Given the description of an element on the screen output the (x, y) to click on. 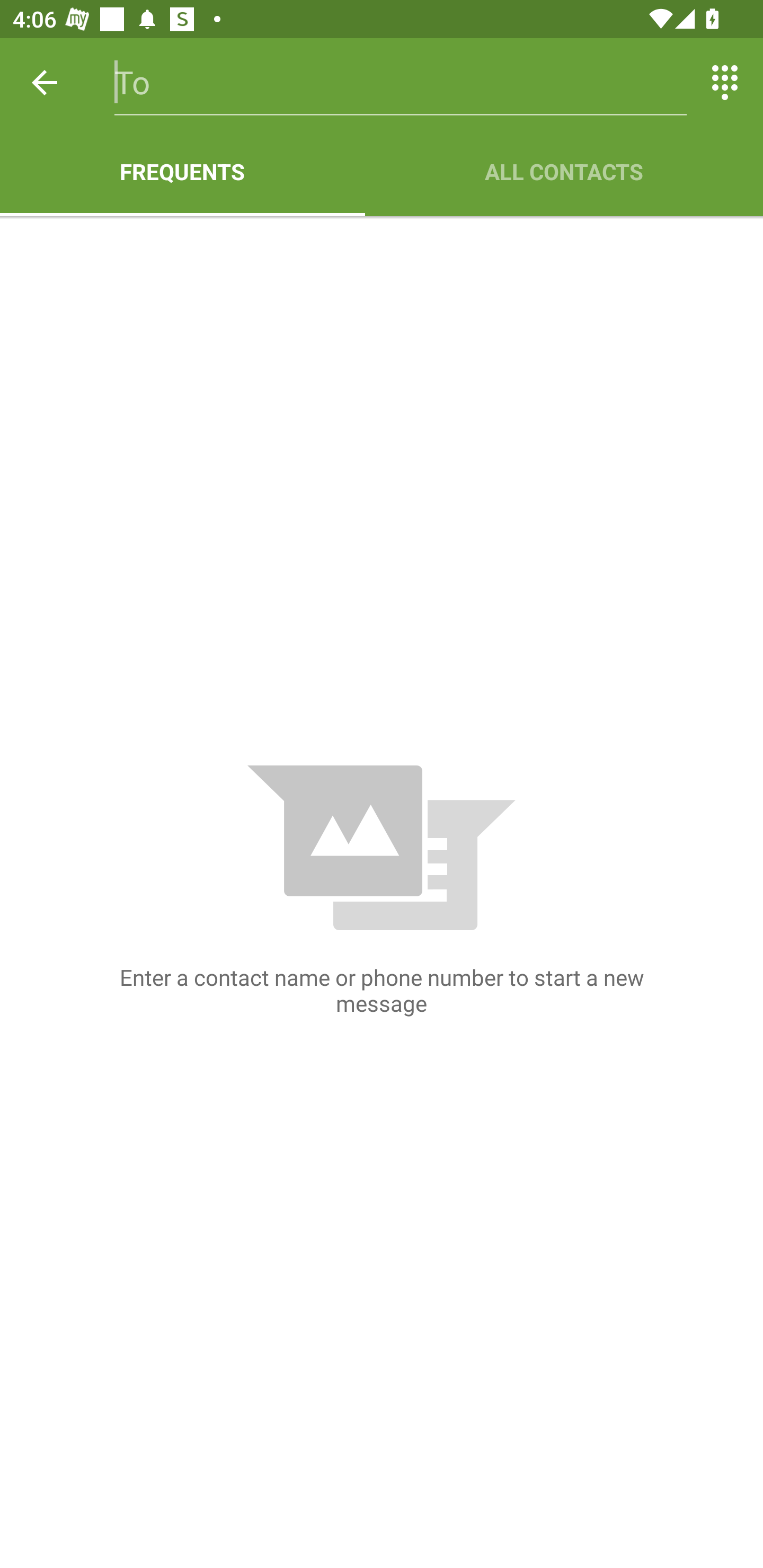
Back (44, 82)
Switch between entering text and numbers (724, 81)
To (400, 82)
FREQUENTS (182, 171)
ALL CONTACTS (563, 171)
